Given the description of an element on the screen output the (x, y) to click on. 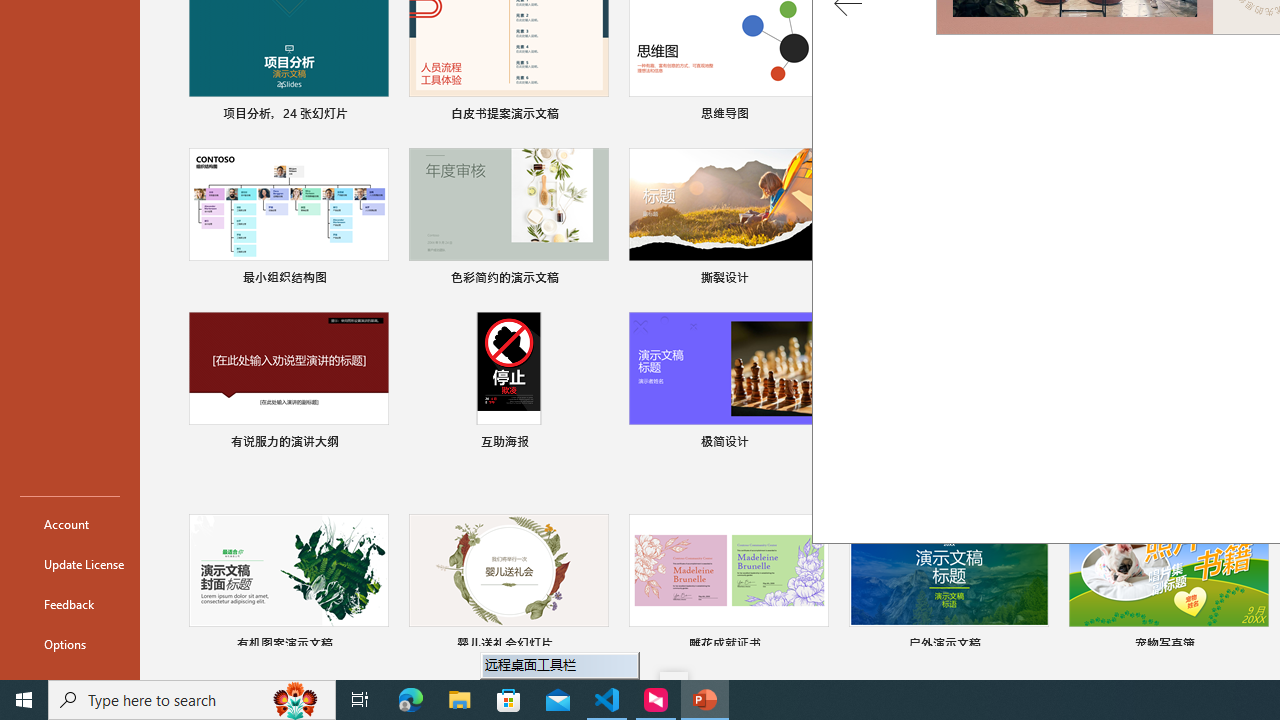
Update License (69, 563)
Account (69, 523)
Feedback (69, 603)
Pin to list (1255, 645)
